Given the description of an element on the screen output the (x, y) to click on. 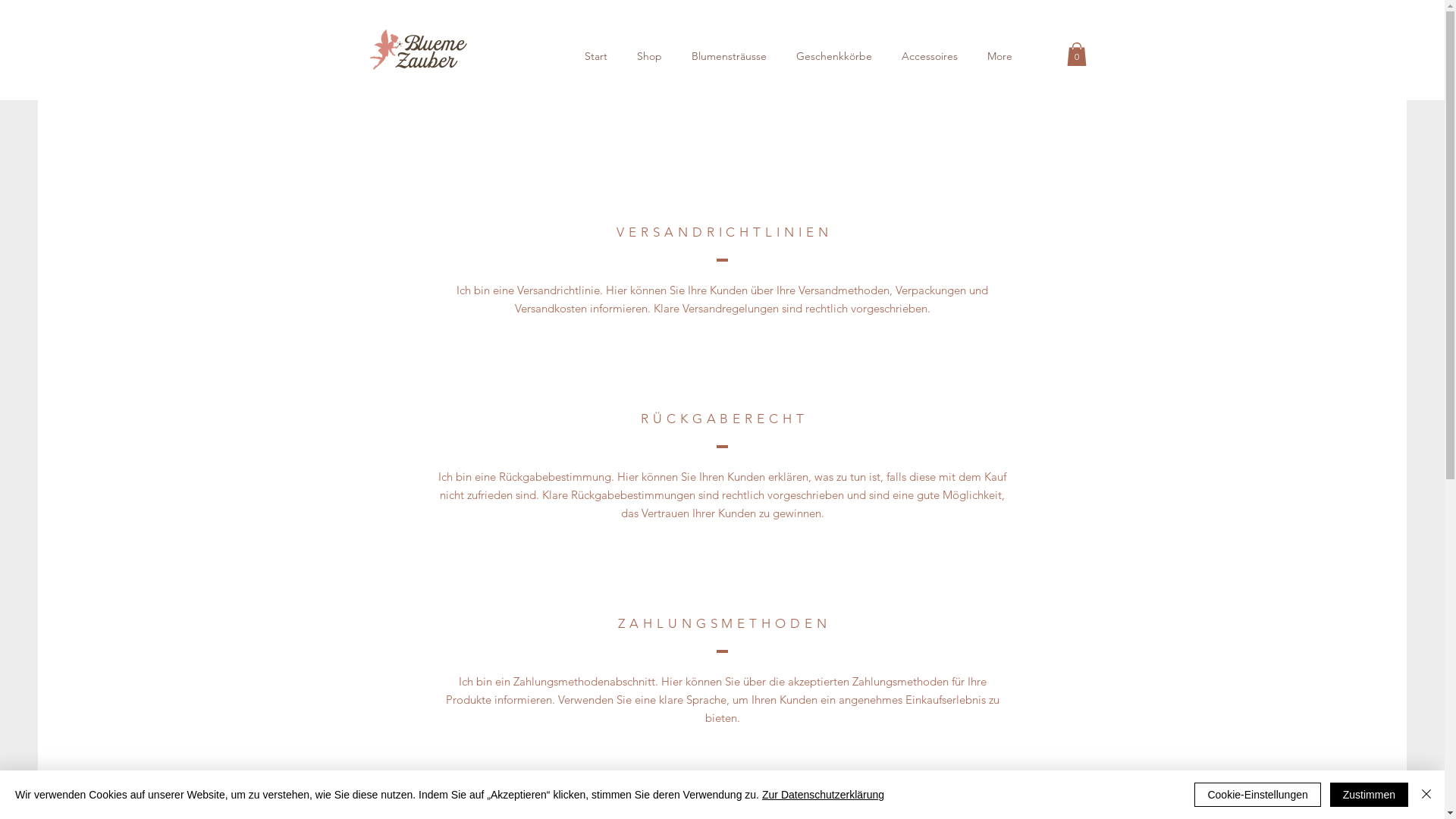
Cookie-Einstellungen Element type: text (1257, 794)
Start Element type: text (596, 56)
Shop Element type: text (648, 56)
Accessoires Element type: text (929, 56)
0 Element type: text (1075, 53)
Zustimmen Element type: text (1369, 794)
